Given the description of an element on the screen output the (x, y) to click on. 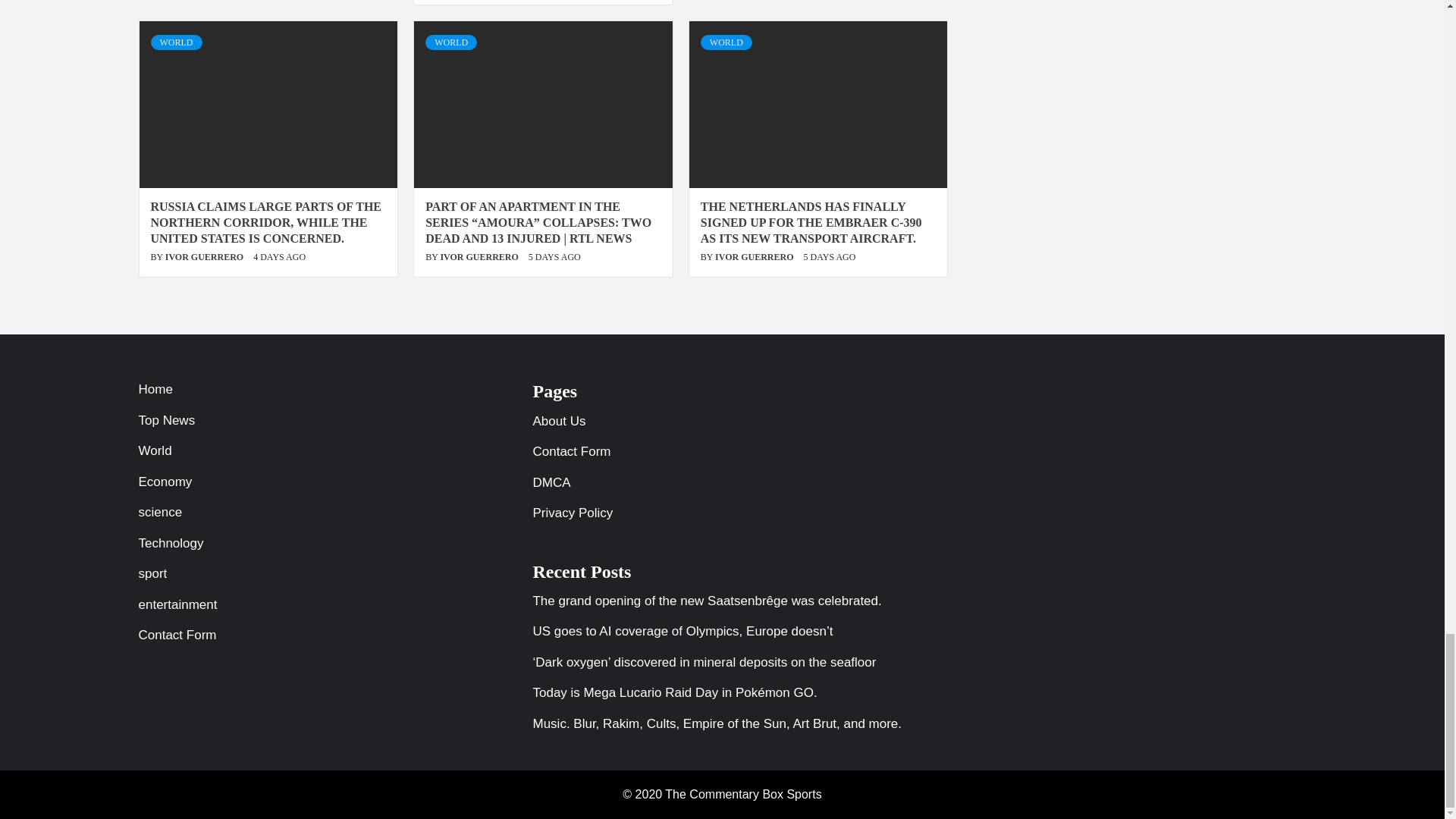
IVOR GUERRERO (205, 256)
WORLD (175, 42)
